Given the description of an element on the screen output the (x, y) to click on. 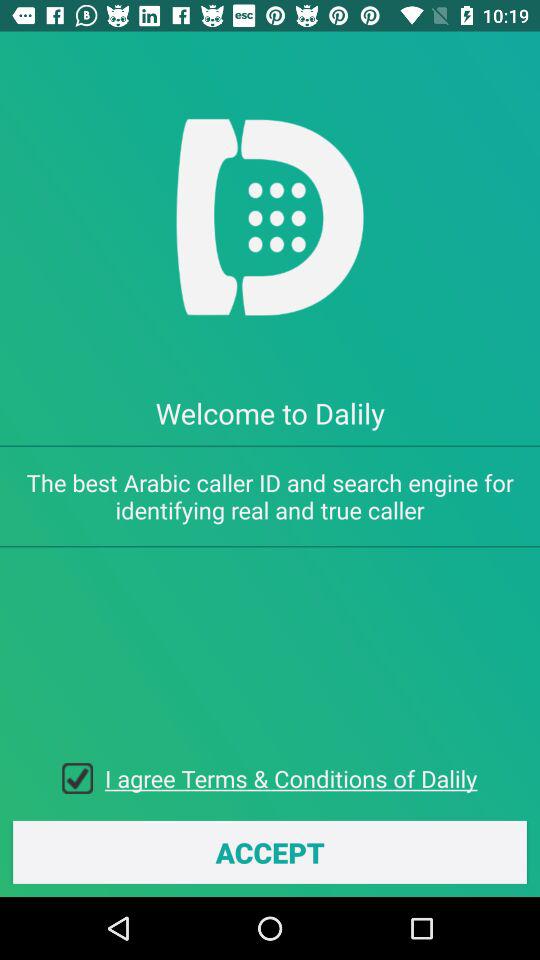
turn on the i agree terms (291, 778)
